Given the description of an element on the screen output the (x, y) to click on. 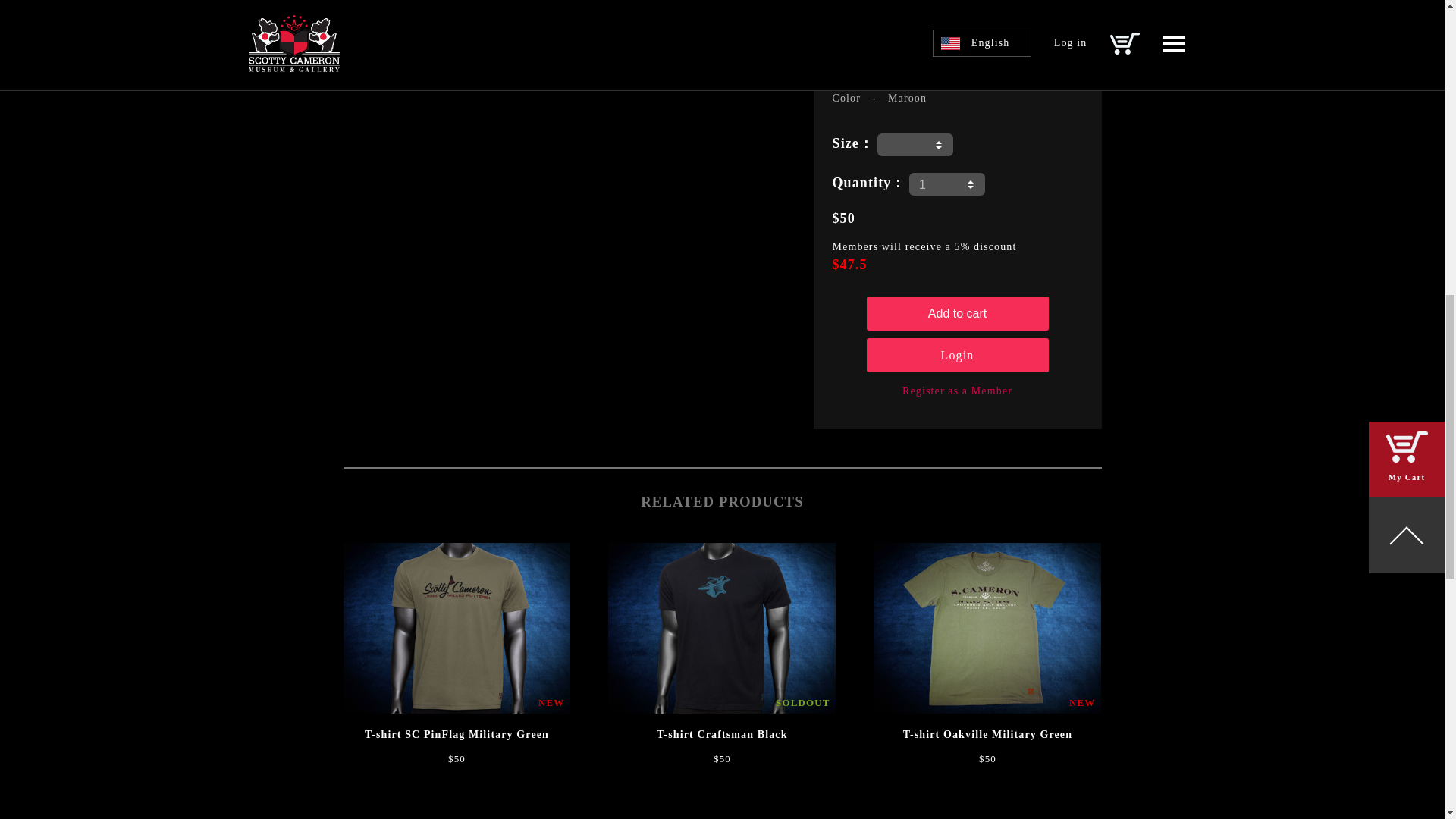
Register as a Member (956, 390)
Add to cart (957, 313)
Add to cart (957, 313)
Login (957, 355)
